Given the description of an element on the screen output the (x, y) to click on. 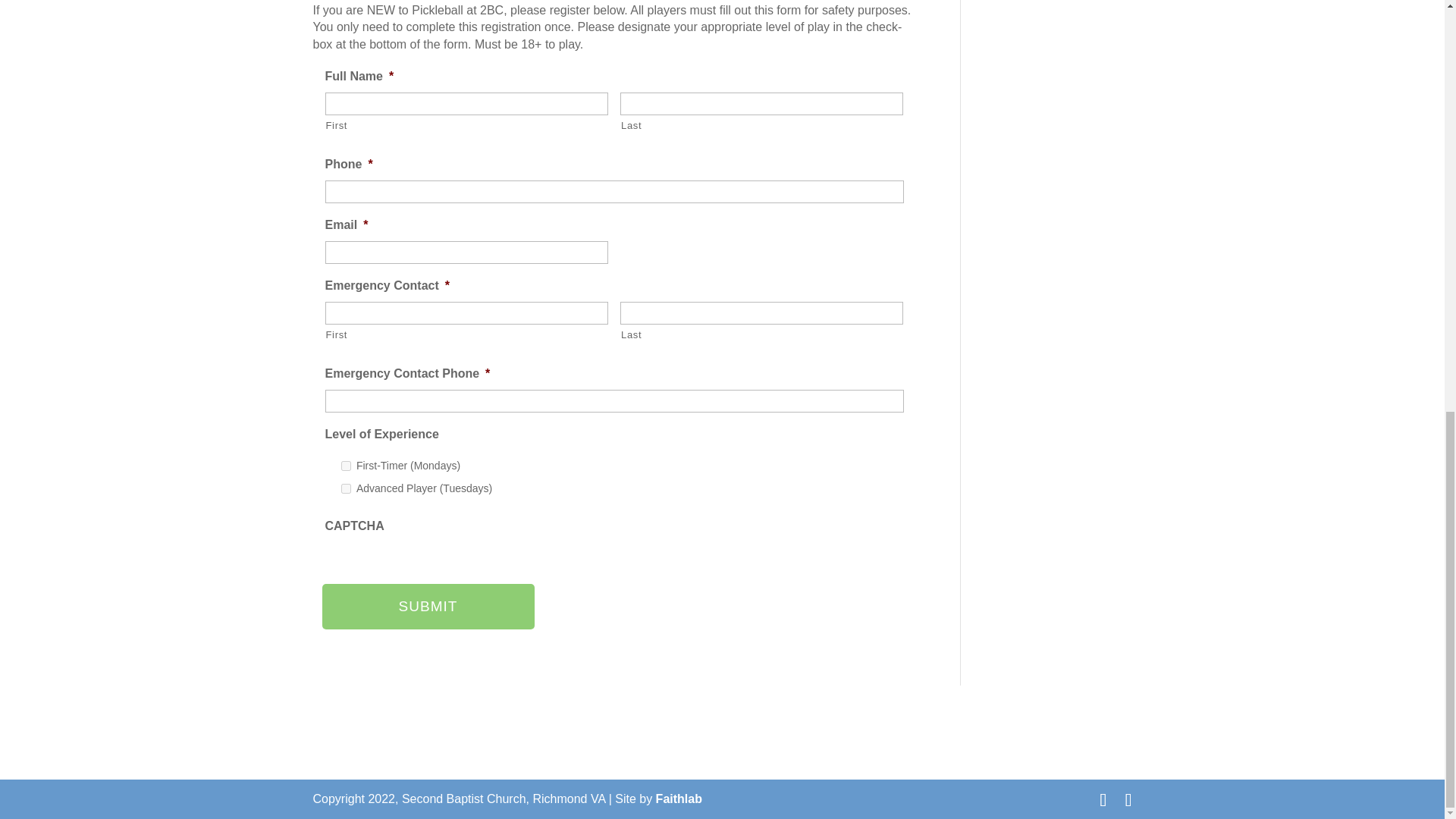
Submit (427, 606)
